Given the description of an element on the screen output the (x, y) to click on. 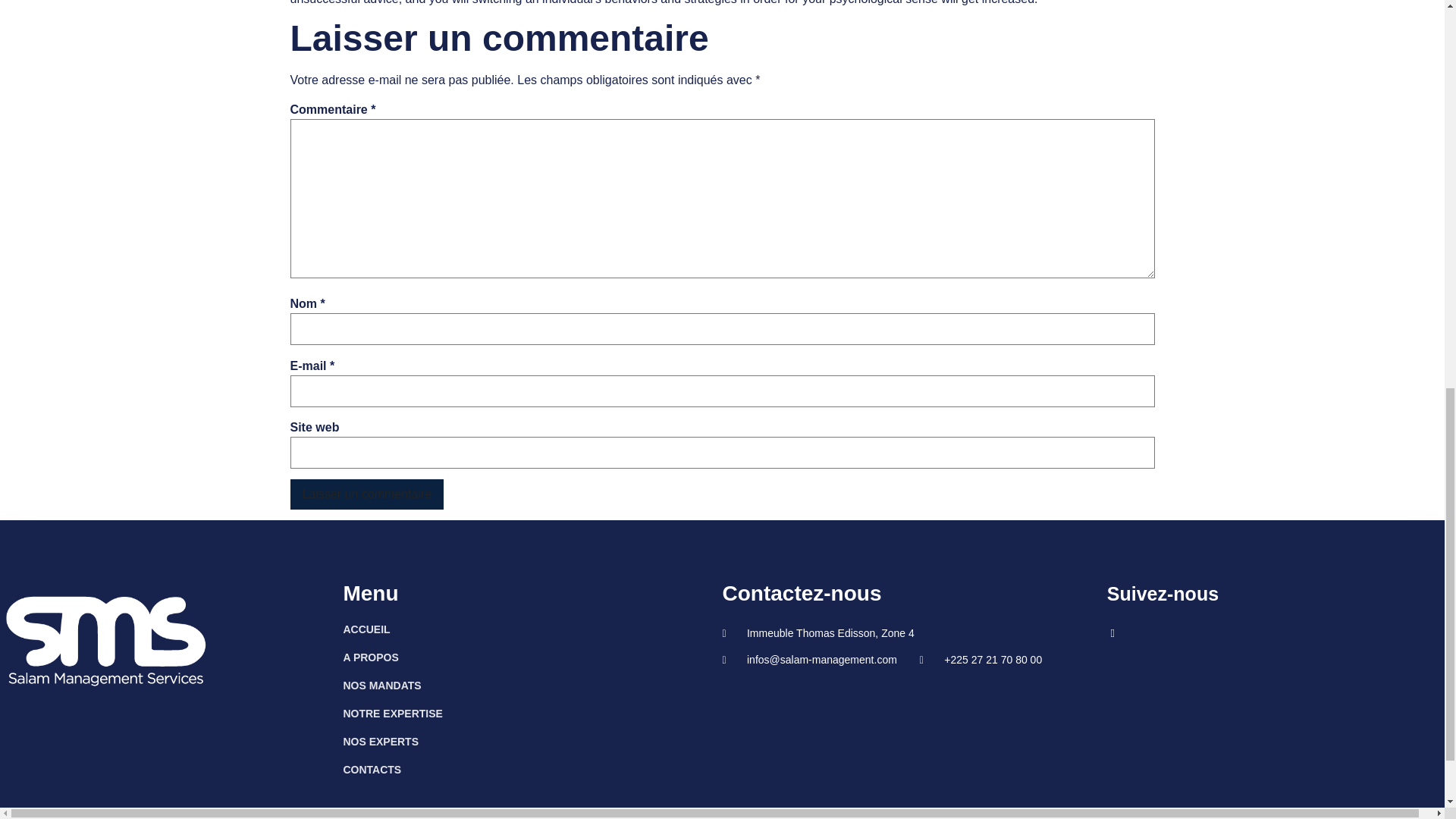
NOS MANDATS (532, 685)
NOTRE EXPERTISE (532, 713)
Laisser un commentaire (366, 494)
CONTACTS (532, 769)
ACCUEIL (532, 628)
NOS EXPERTS (532, 741)
Laisser un commentaire (366, 494)
A PROPOS (532, 657)
